Given the description of an element on the screen output the (x, y) to click on. 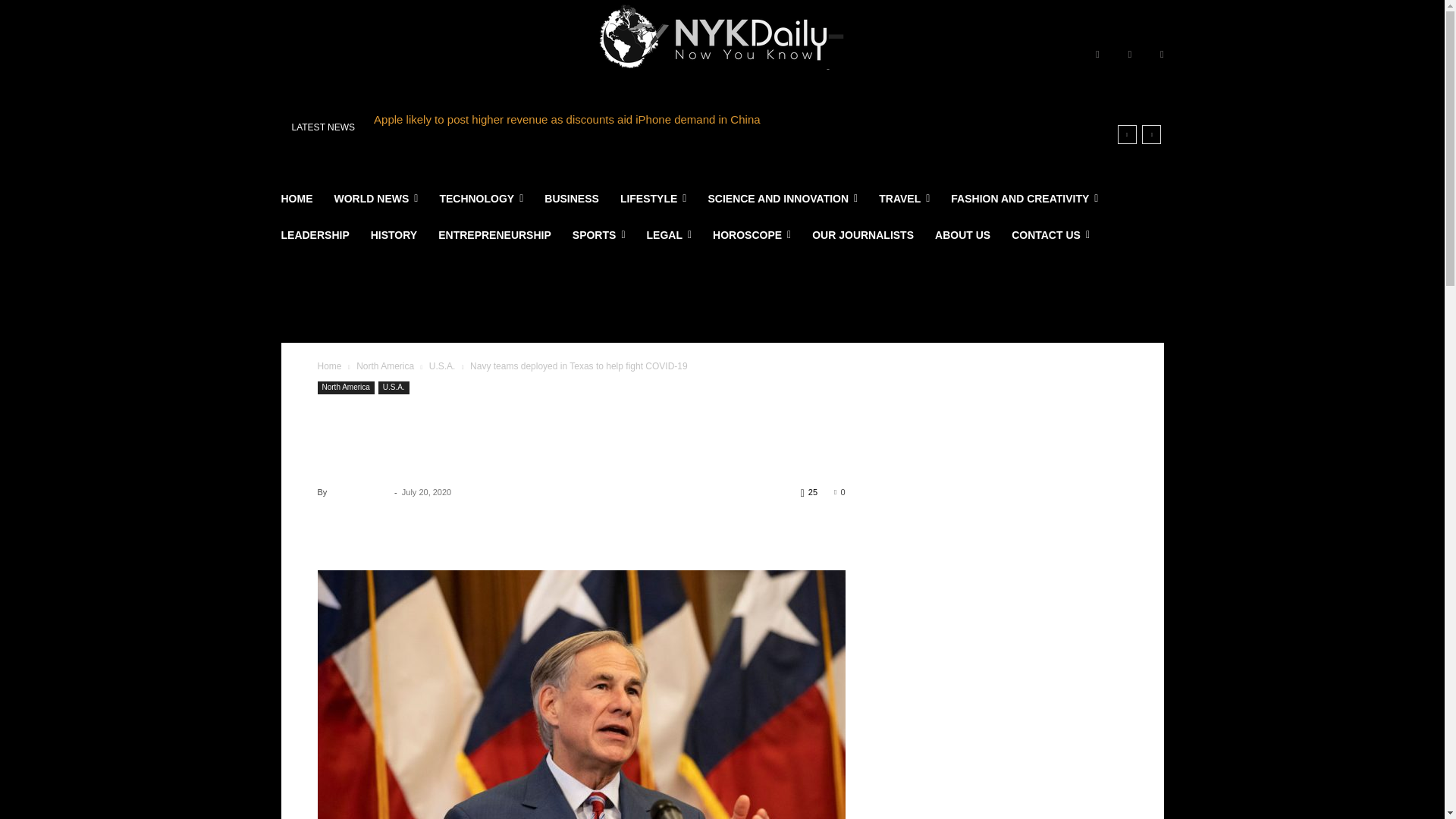
Twitter (1162, 54)
Facebook (1096, 54)
Instagram (1130, 54)
